Given the description of an element on the screen output the (x, y) to click on. 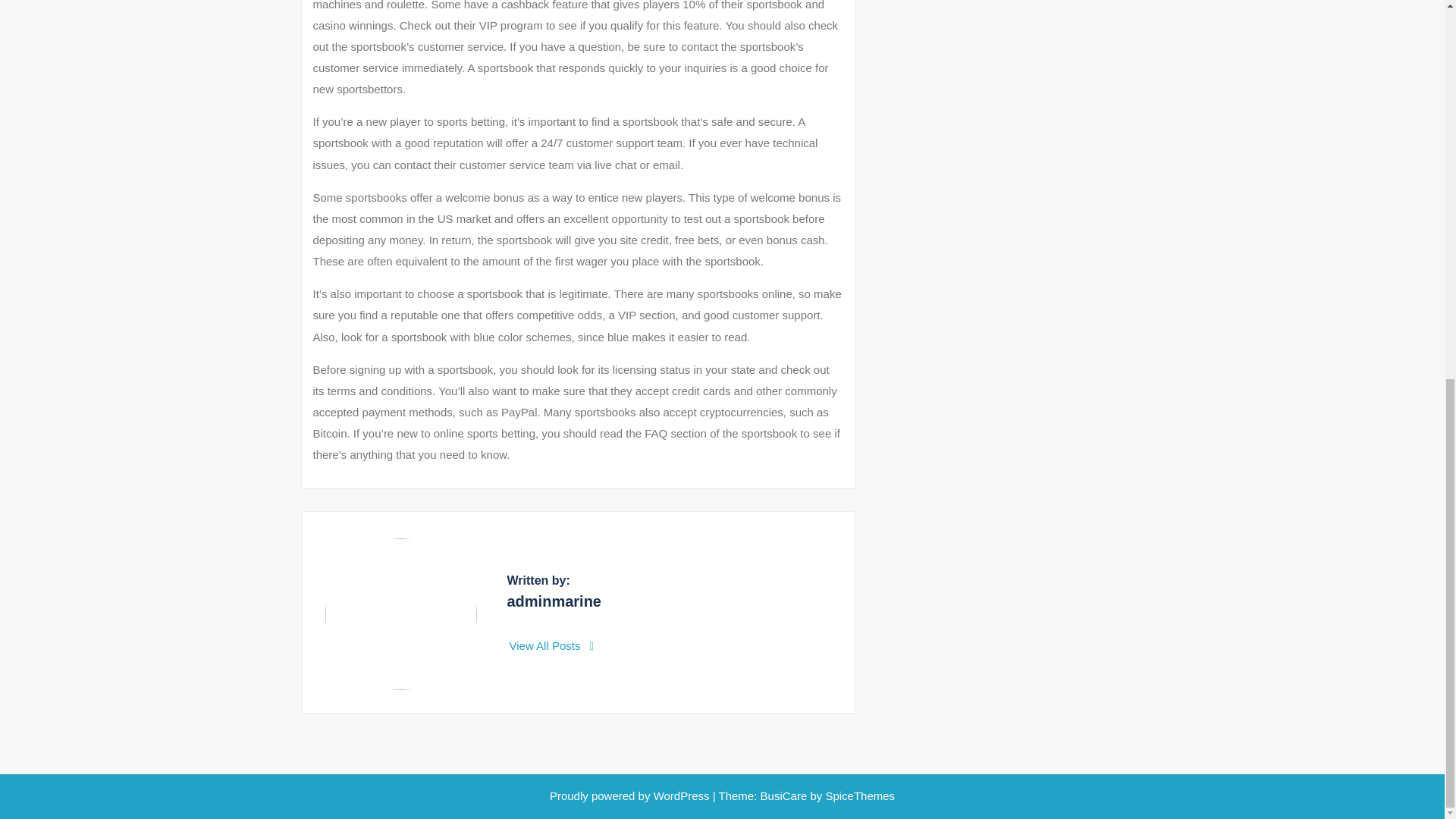
SpiceThemes (858, 795)
BusiCare (785, 795)
View All Posts (551, 645)
WordPress (681, 795)
